Given the description of an element on the screen output the (x, y) to click on. 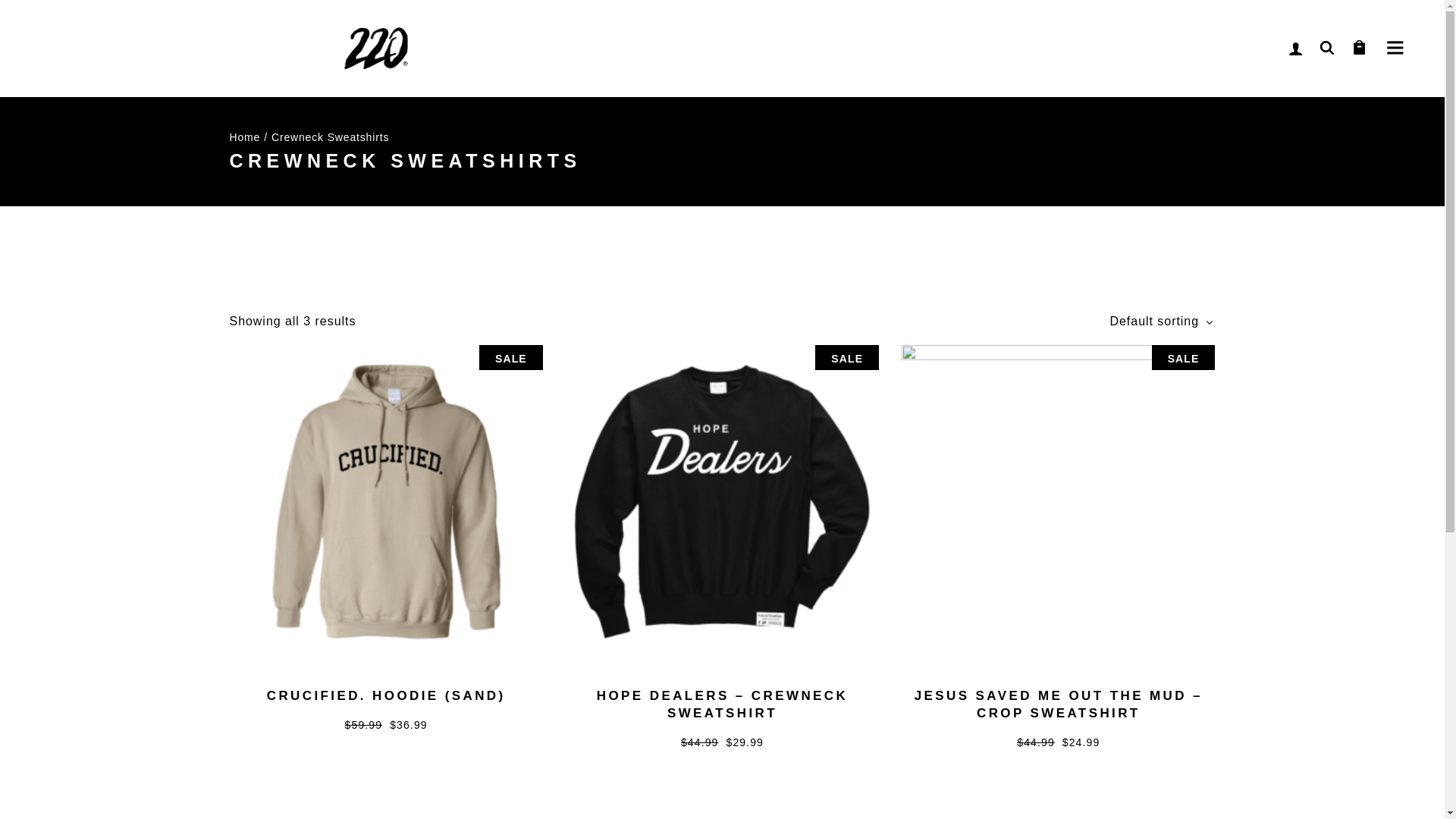
Home Element type: text (244, 136)
